Given the description of an element on the screen output the (x, y) to click on. 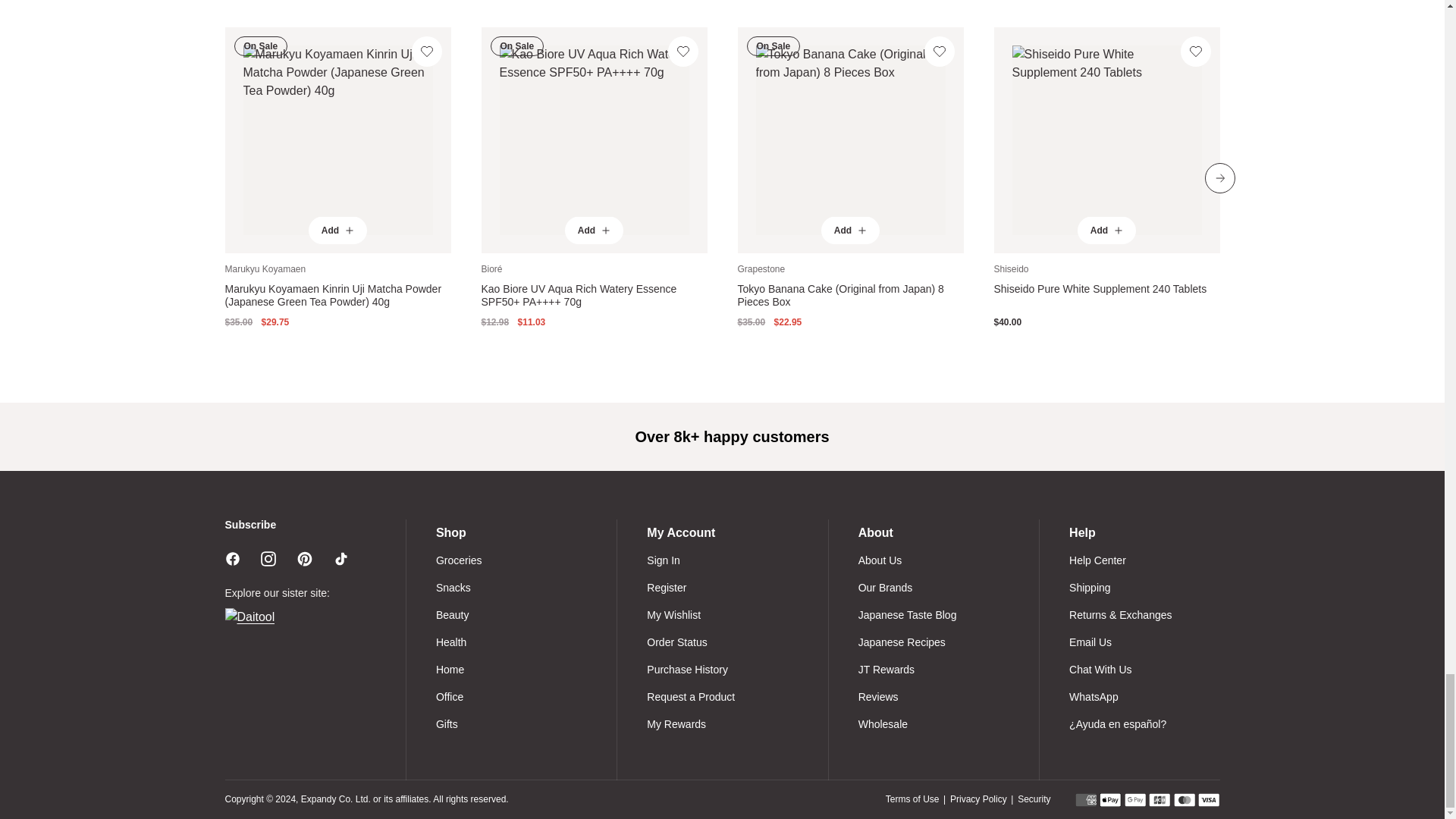
Japanese Taste on Pinterest (305, 558)
Japanese Taste on Facebook (232, 558)
Japanese Taste on Instagram (268, 558)
Japanese Taste on TikTok (341, 558)
